Given the description of an element on the screen output the (x, y) to click on. 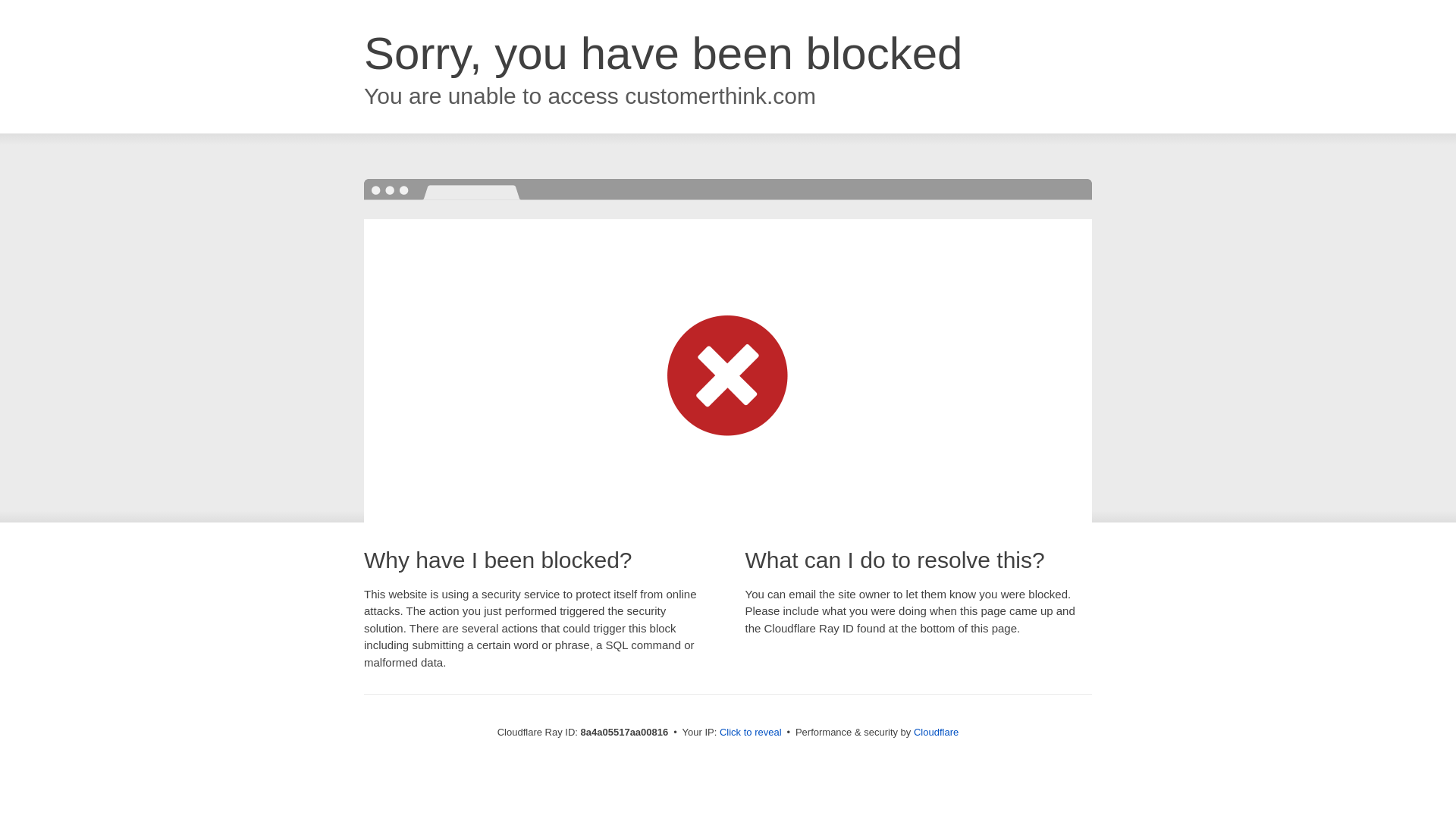
Cloudflare (936, 731)
Click to reveal (750, 732)
